Given the description of an element on the screen output the (x, y) to click on. 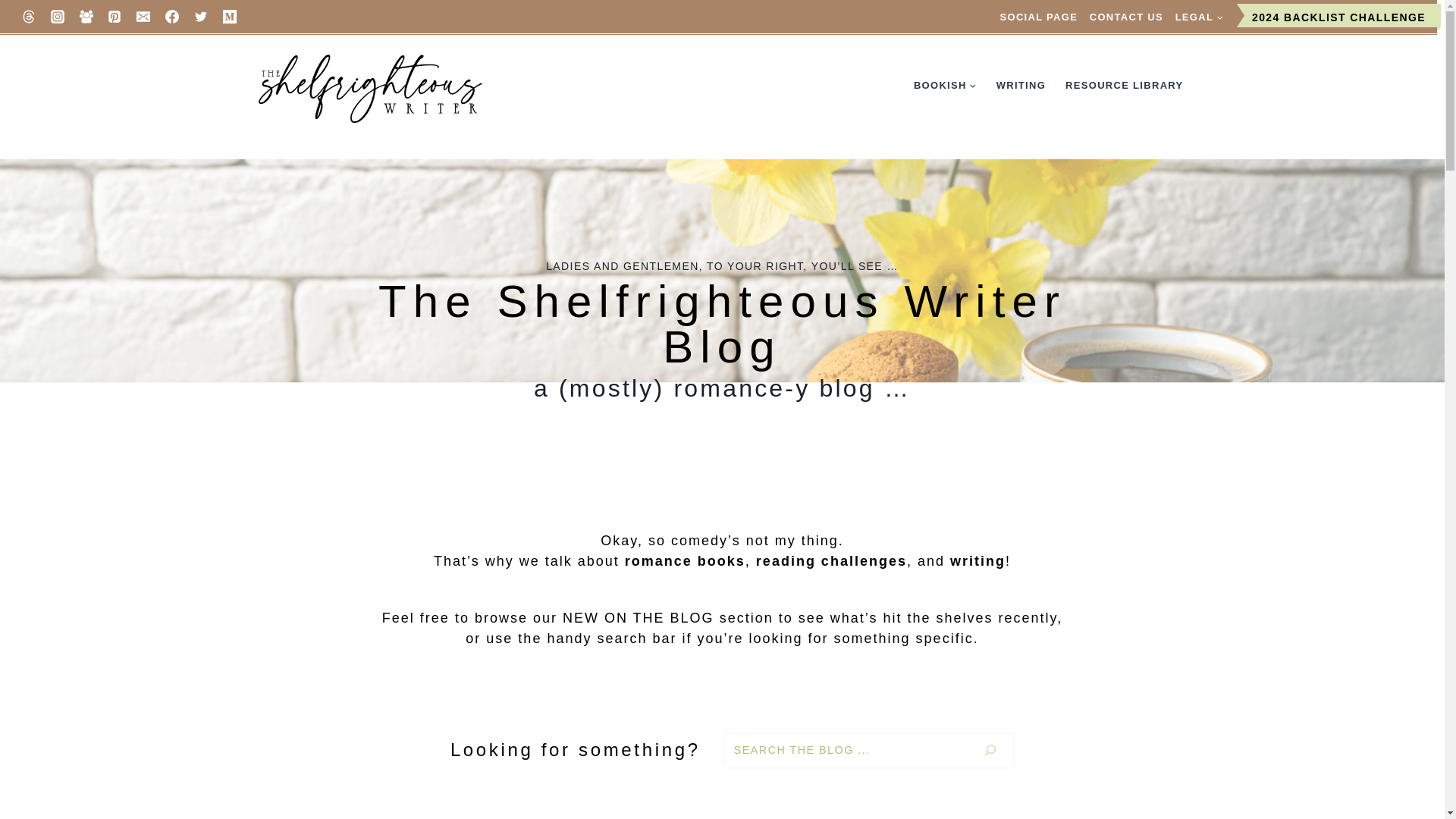
CONTACT US (1126, 16)
WRITING (1021, 85)
2024 BACKLIST CHALLENGE (1338, 17)
SOCIAL PAGE (1038, 16)
LEGAL (1198, 16)
RESOURCE LIBRARY (1123, 85)
BOOKISH (945, 85)
